Given the description of an element on the screen output the (x, y) to click on. 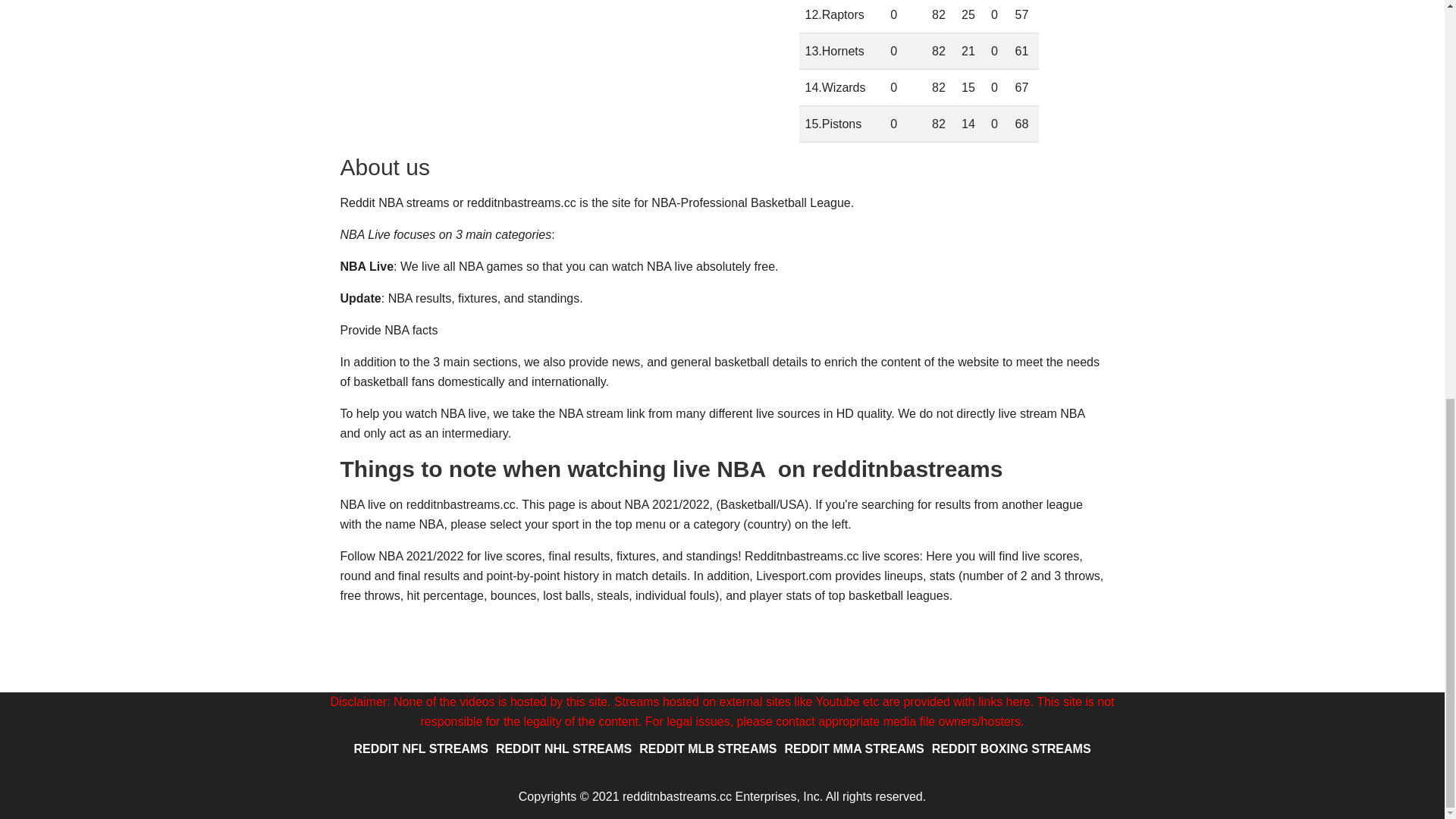
REDDIT MMA STREAMS (853, 748)
REDDIT NHL STREAMS (563, 748)
REDDIT MLB STREAMS (707, 748)
REDDIT NFL STREAMS (420, 748)
REDDIT BOXING STREAMS (1011, 748)
